Given the description of an element on the screen output the (x, y) to click on. 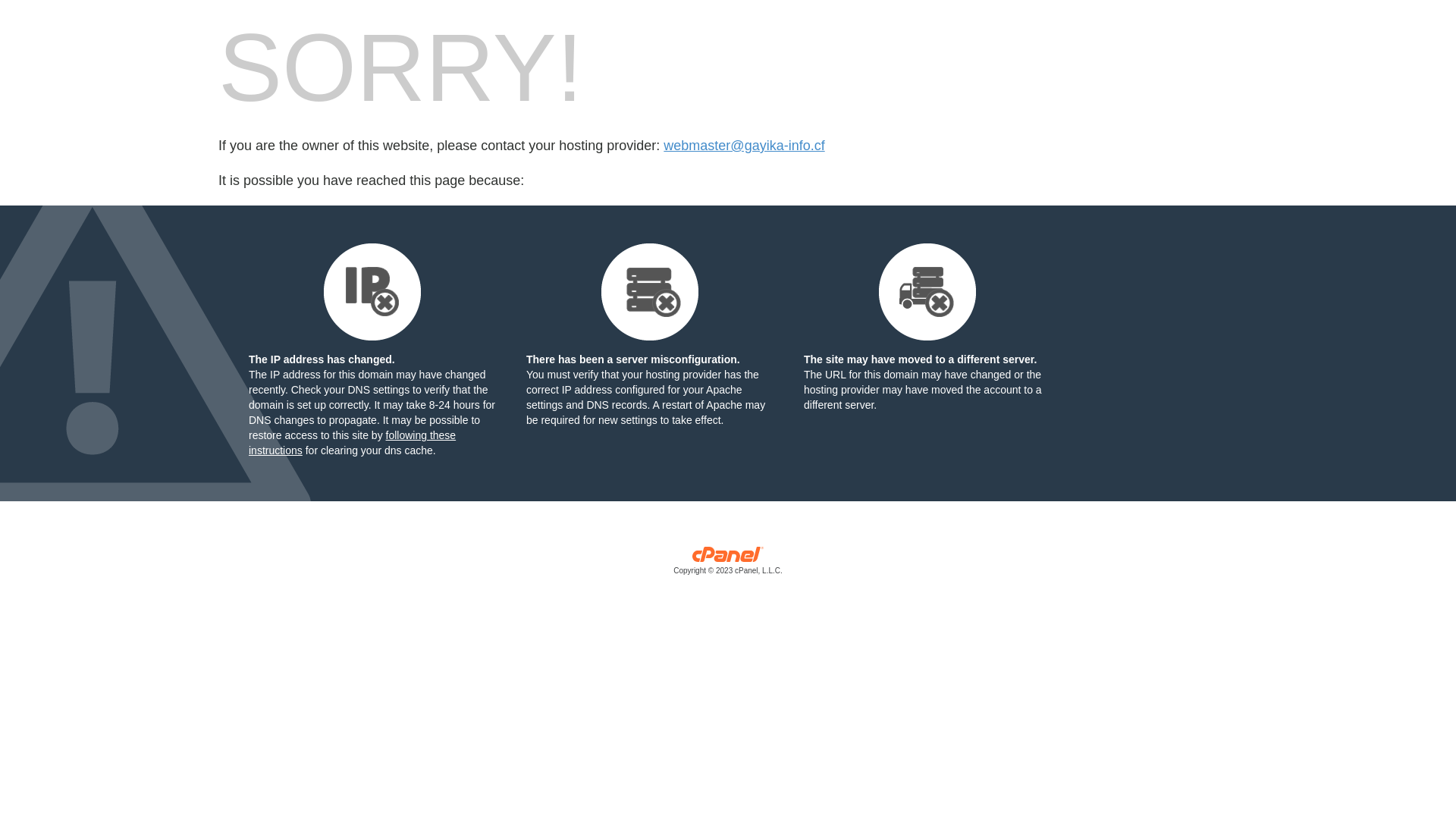
following these instructions Element type: text (351, 442)
webmaster@gayika-info.cf Element type: text (743, 145)
